Given the description of an element on the screen output the (x, y) to click on. 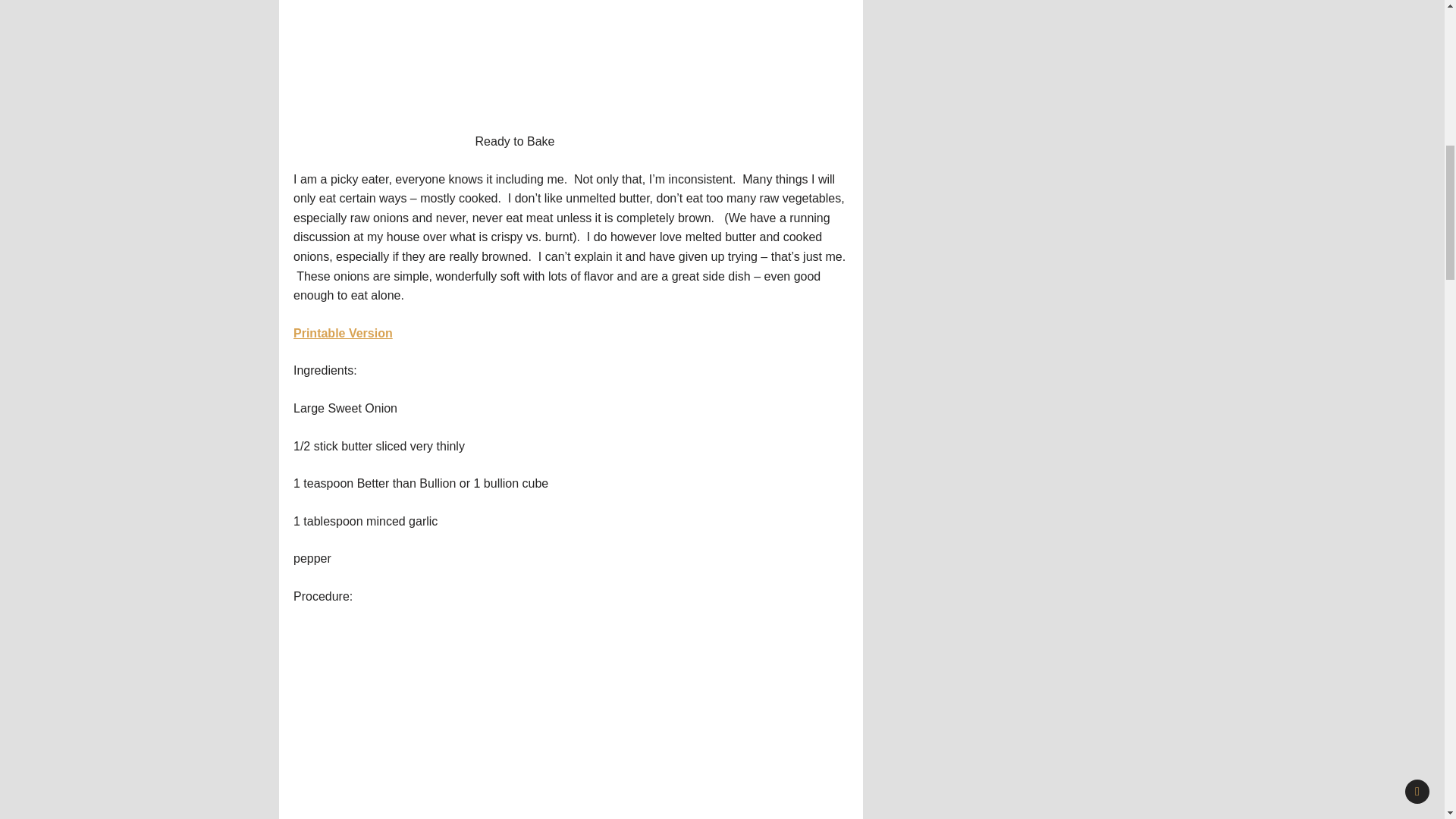
Printable Version (343, 332)
